Given the description of an element on the screen output the (x, y) to click on. 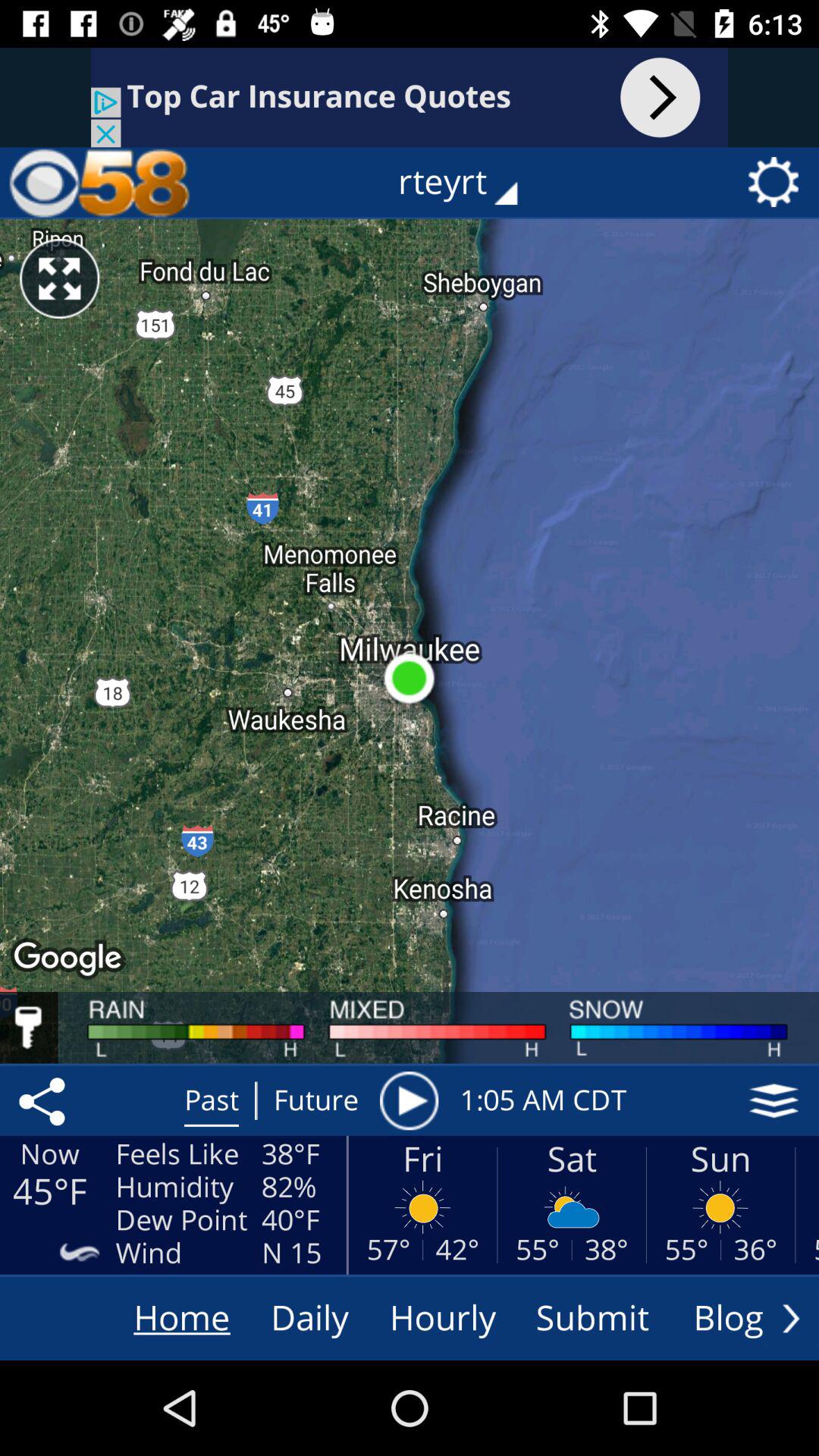
go to home page (99, 182)
